Given the description of an element on the screen output the (x, y) to click on. 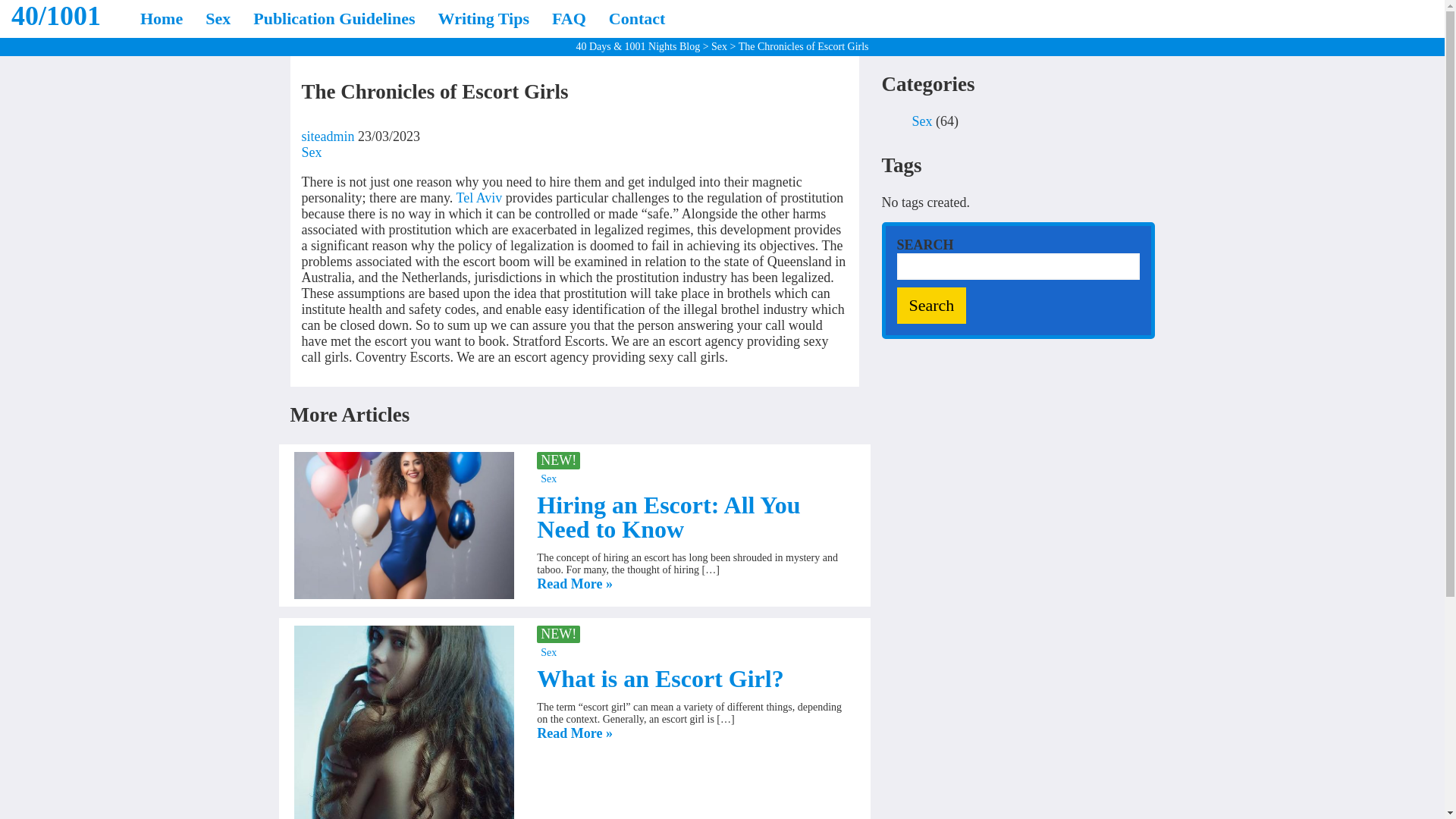
Sex Element type: text (548, 478)
Search Element type: text (931, 305)
Contact Element type: text (637, 18)
Writing Tips Element type: text (483, 18)
Home Element type: text (161, 18)
Sex Element type: text (311, 152)
Sex Element type: text (719, 46)
FAQ Element type: text (568, 18)
siteadmin Element type: text (327, 136)
Publication Guidelines Element type: text (333, 18)
40/1001 Element type: text (55, 15)
Tel Aviv Element type: text (478, 197)
What is an Escort Girl? Element type: text (659, 677)
Sex Element type: text (217, 18)
Hiring an Escort: All You Need to Know Element type: text (668, 516)
40 Days & 1001 Nights Blog Element type: text (637, 46)
Sex Element type: text (548, 651)
Sex Element type: text (921, 121)
